Given the description of an element on the screen output the (x, y) to click on. 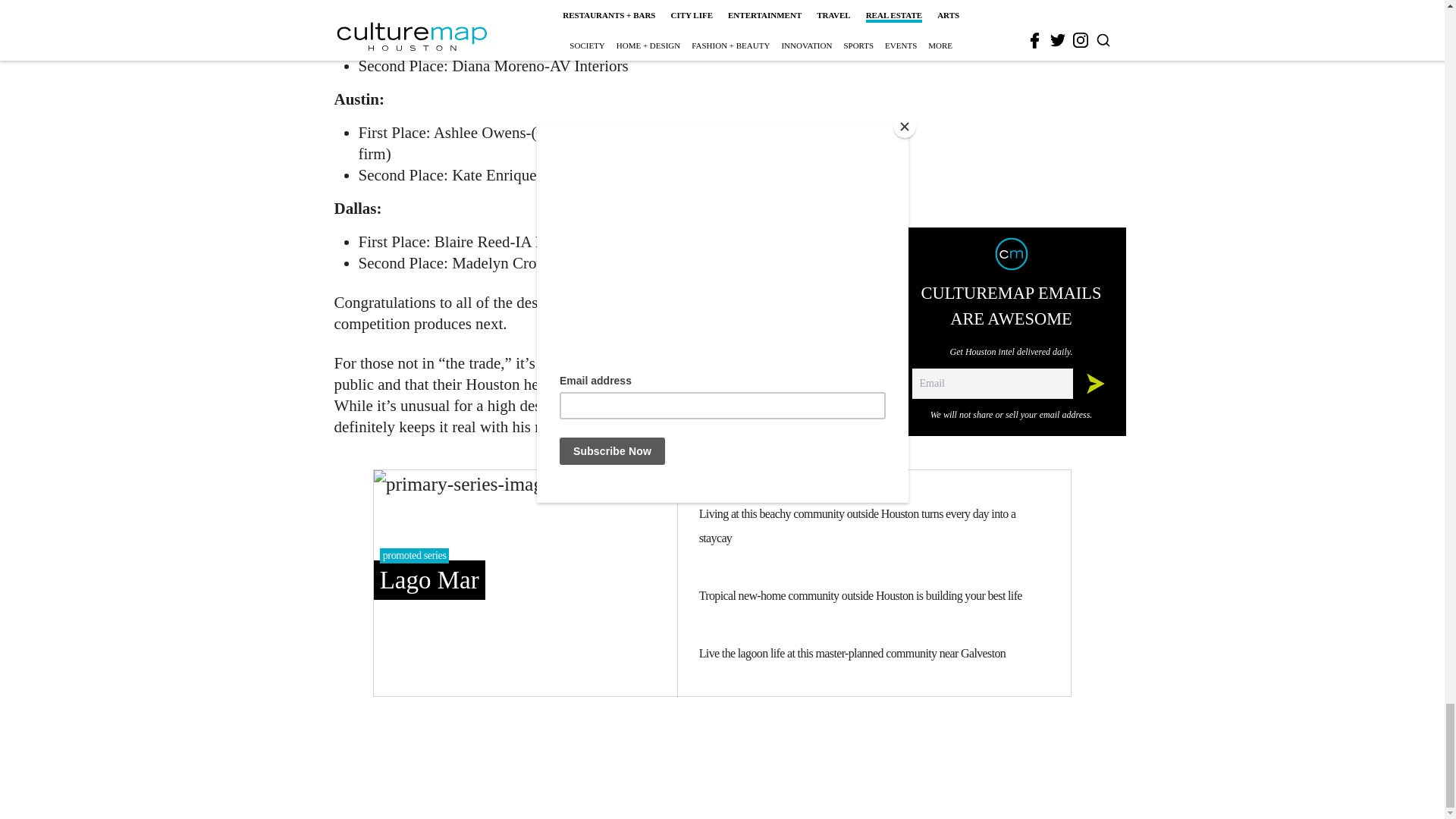
primary-link (525, 583)
